Given the description of an element on the screen output the (x, y) to click on. 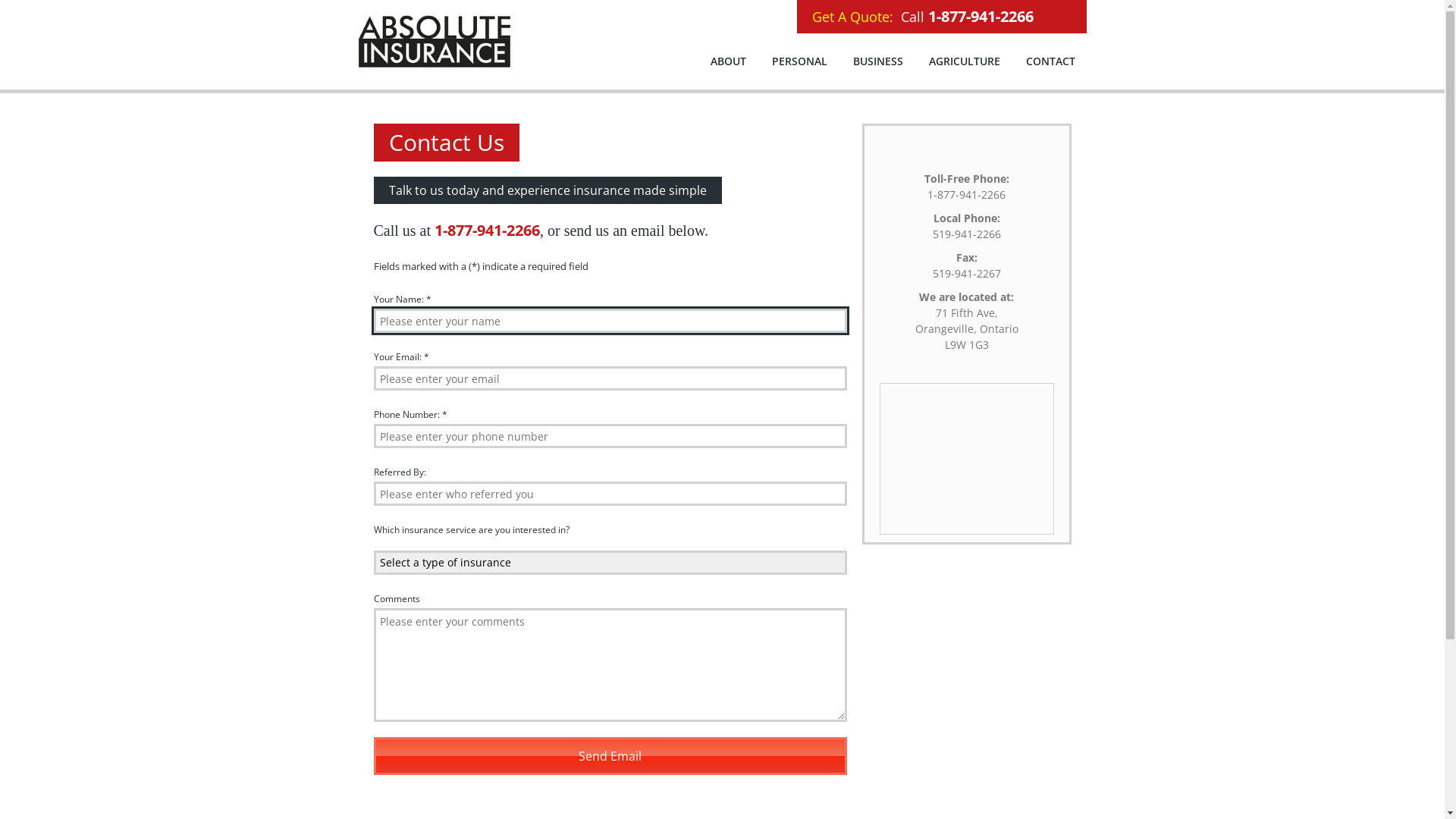
BUSINESS Element type: text (877, 61)
CONTACT Element type: text (1050, 61)
Send Email Element type: text (609, 756)
Get A Quote:  Call 1-877-941-2266 Element type: text (940, 16)
AGRICULTURE Element type: text (964, 61)
PERSONAL Element type: text (798, 61)
ABOUT Element type: text (728, 61)
